Given the description of an element on the screen output the (x, y) to click on. 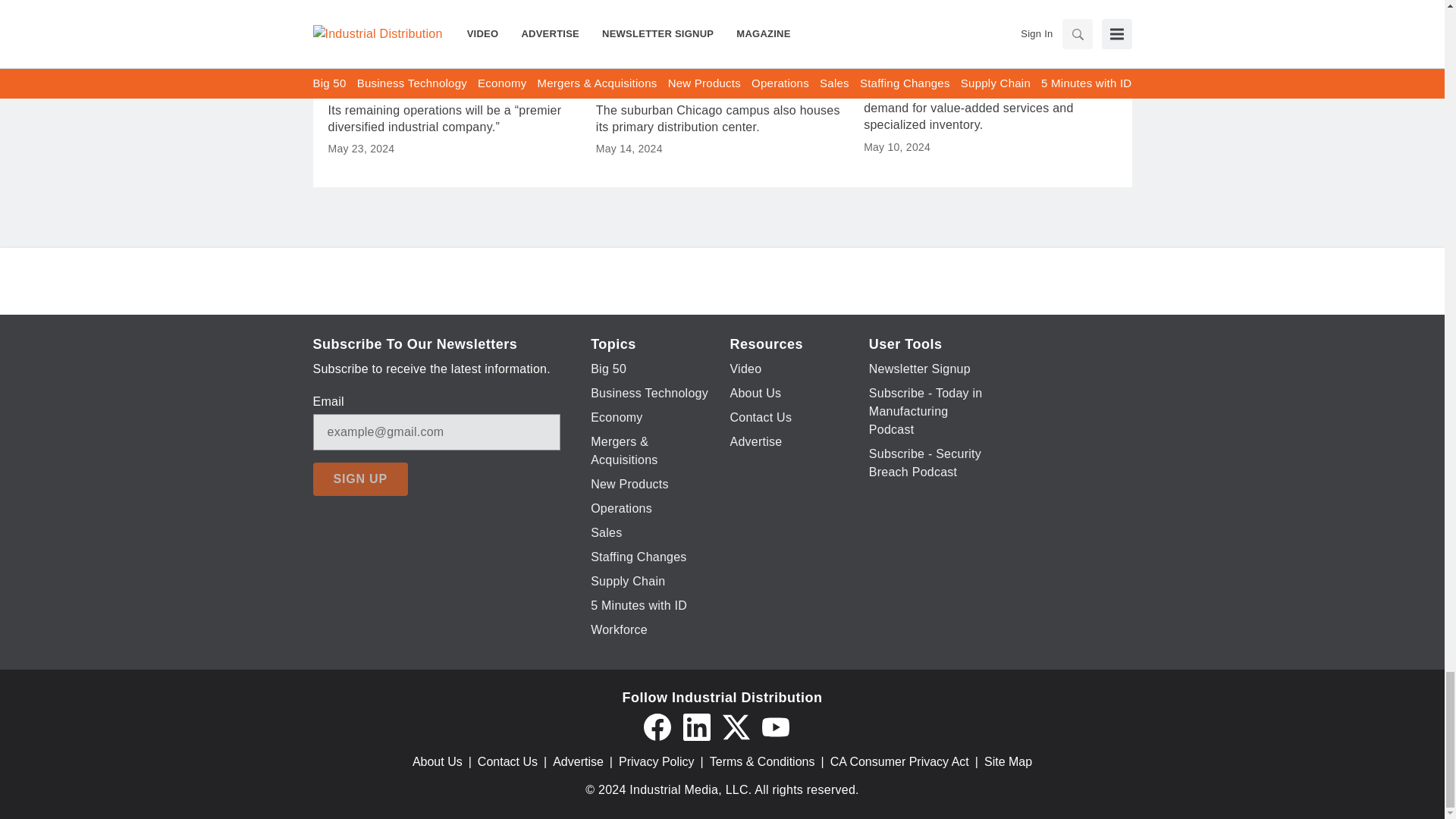
YouTube icon (775, 727)
Twitter X icon (735, 727)
Facebook icon (656, 727)
LinkedIn icon (696, 727)
